Given the description of an element on the screen output the (x, y) to click on. 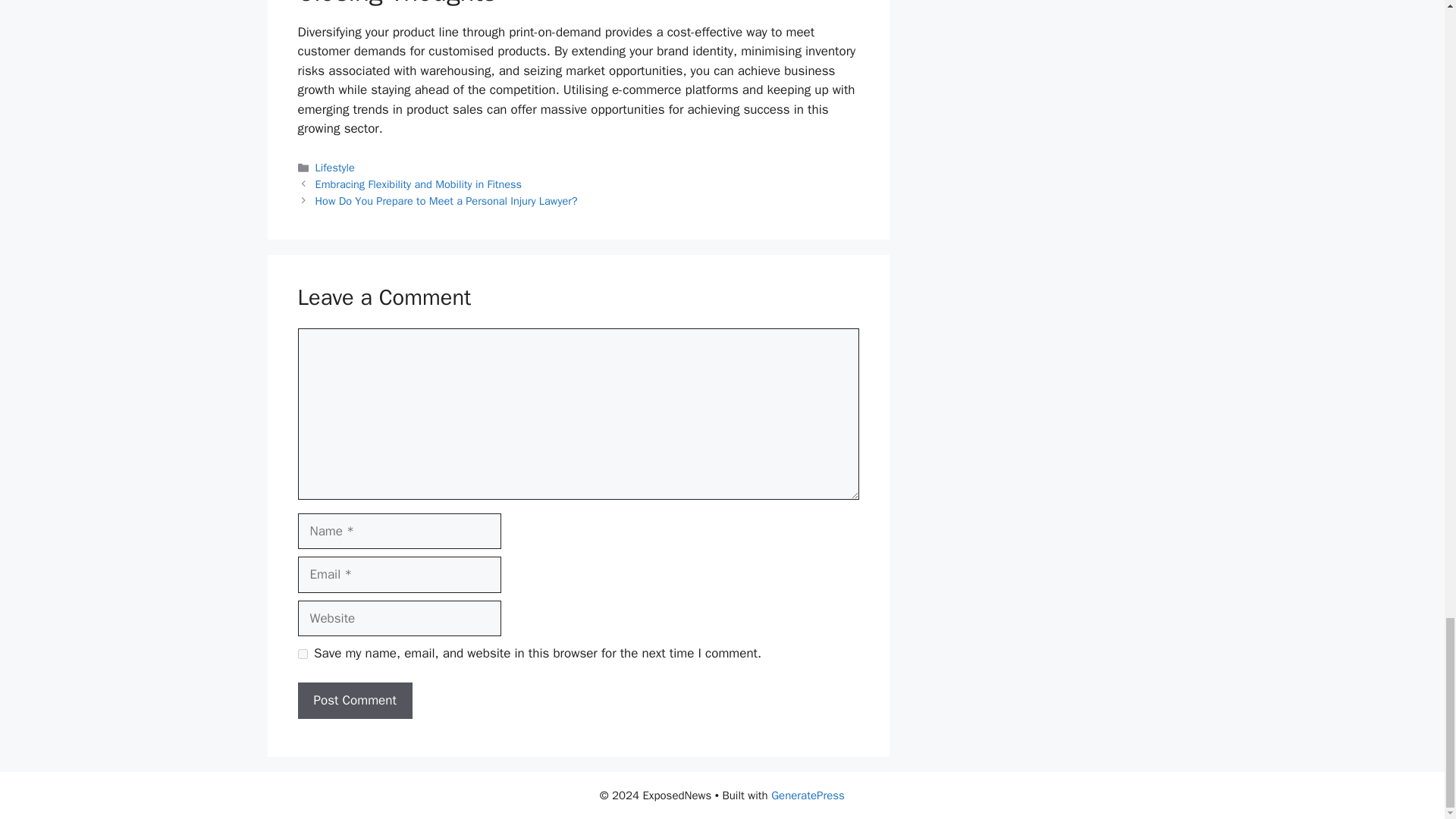
Post Comment (354, 700)
Lifestyle (335, 167)
How Do You Prepare to Meet a Personal Injury Lawyer? (446, 201)
yes (302, 653)
Post Comment (354, 700)
Embracing Flexibility and Mobility in Fitness (418, 183)
